Given the description of an element on the screen output the (x, y) to click on. 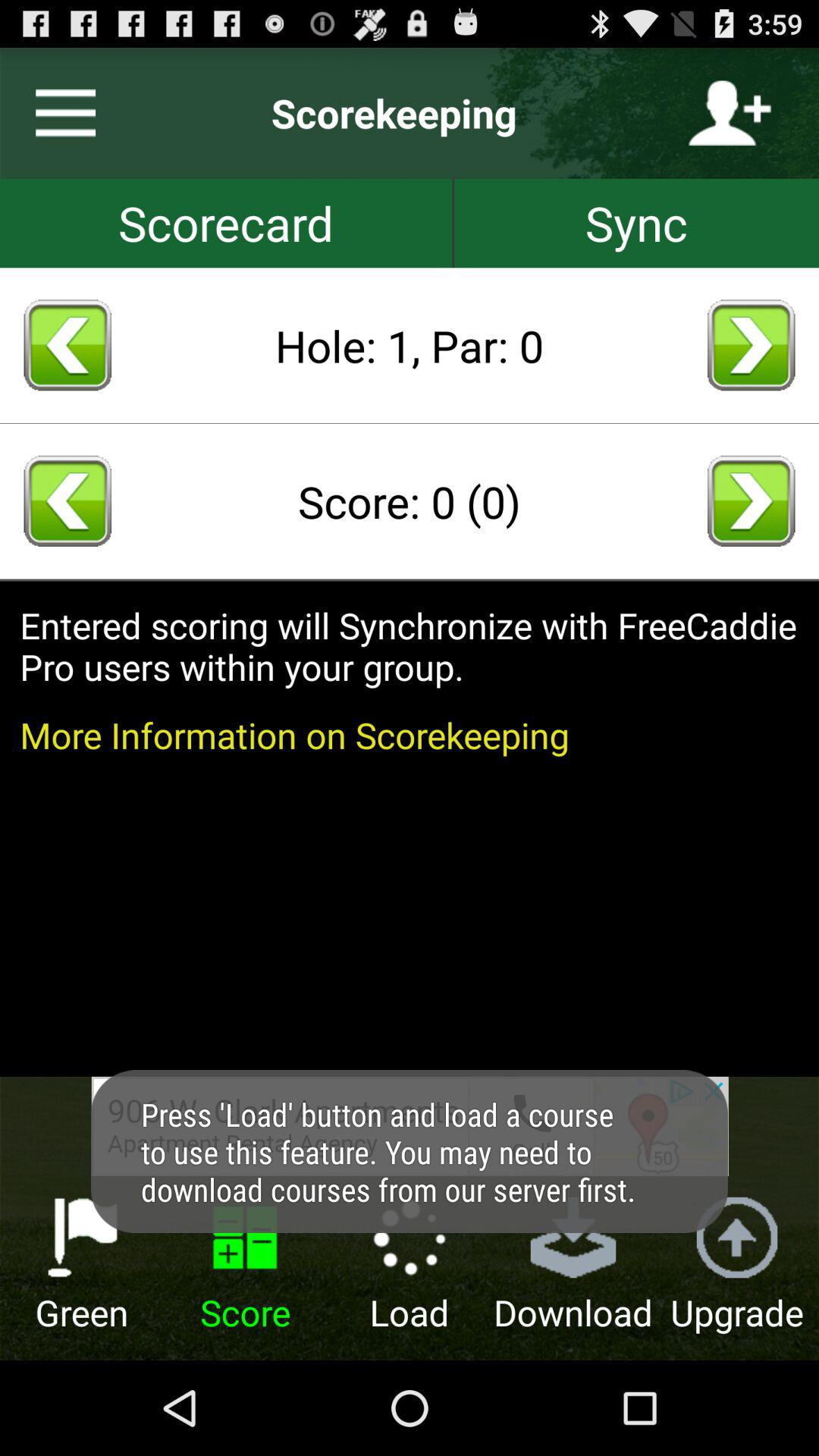
option (59, 112)
